Given the description of an element on the screen output the (x, y) to click on. 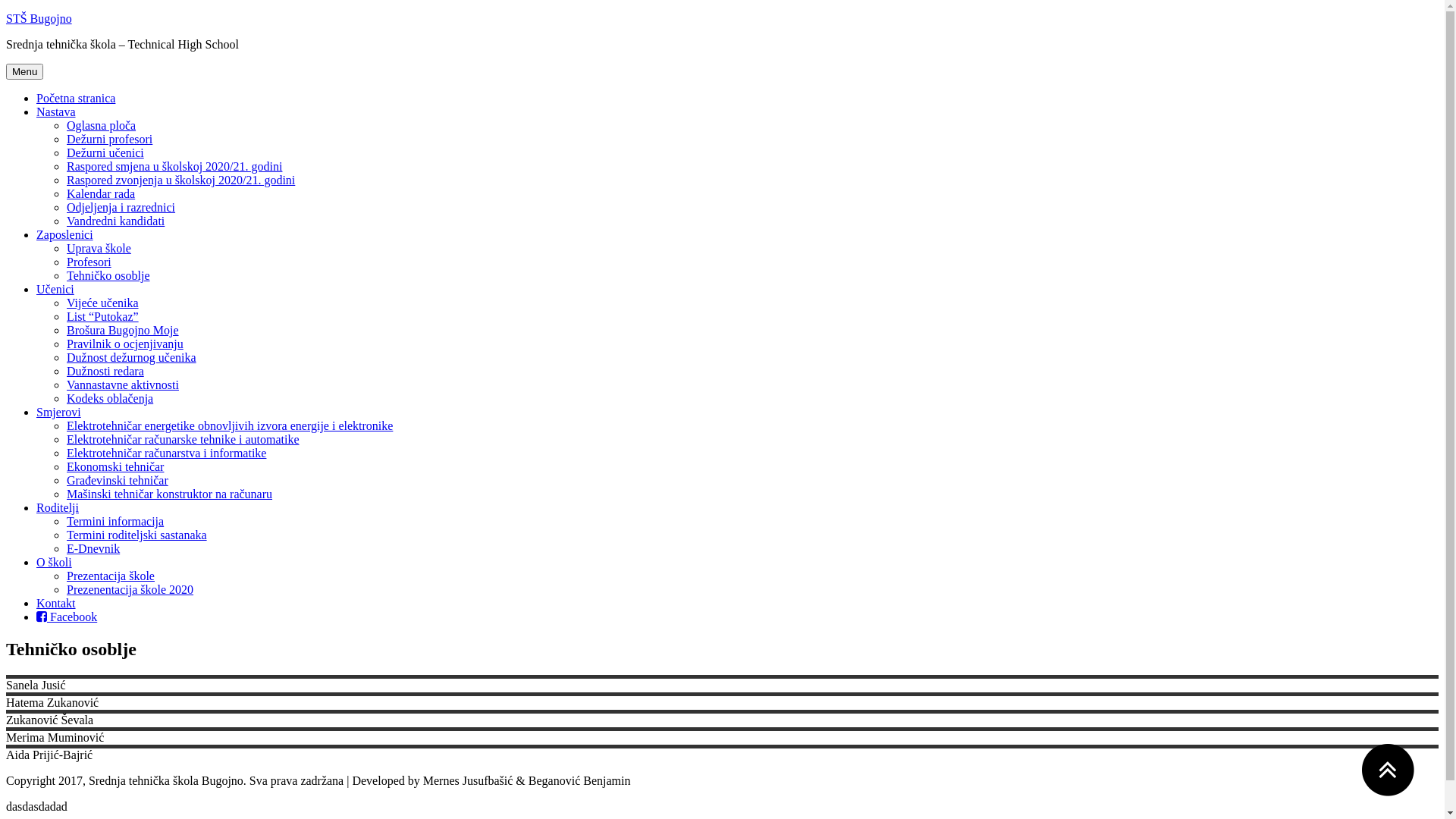
Odjeljenja i razrednici Element type: text (120, 206)
Zaposlenici Element type: text (64, 234)
Vandredni kandidati Element type: text (115, 220)
Pravilnik o ocjenjivanju Element type: text (124, 343)
Kalendar rada Element type: text (100, 193)
Skip to content Element type: text (5, 11)
Termini informacija Element type: text (114, 520)
Termini roditeljski sastanaka Element type: text (136, 534)
Smjerovi Element type: text (58, 411)
Roditelji Element type: text (57, 507)
Facebook Element type: text (66, 616)
E-Dnevnik Element type: text (92, 548)
Profesori Element type: text (88, 261)
Vannastavne aktivnosti Element type: text (122, 384)
Kontakt Element type: text (55, 602)
Nastava Element type: text (55, 111)
Menu Element type: text (24, 71)
